Given the description of an element on the screen output the (x, y) to click on. 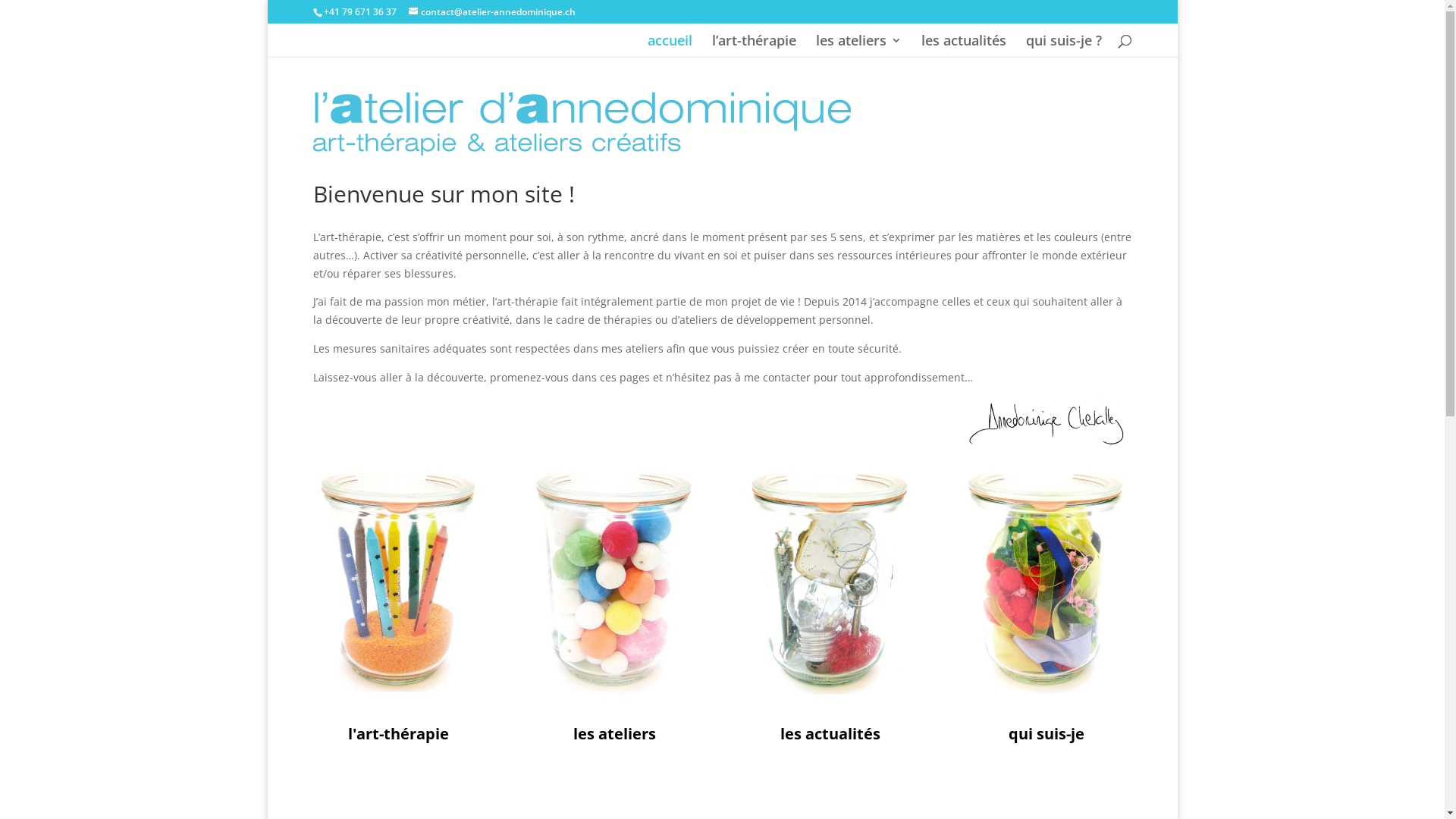
qui suis-je ? Element type: text (1063, 45)
accueil Element type: text (669, 45)
qui suis-je Element type: text (1046, 733)
contact@atelier-annedominique.ch Element type: text (490, 11)
les ateliers Element type: text (858, 45)
les ateliers Element type: text (614, 733)
